Given the description of an element on the screen output the (x, y) to click on. 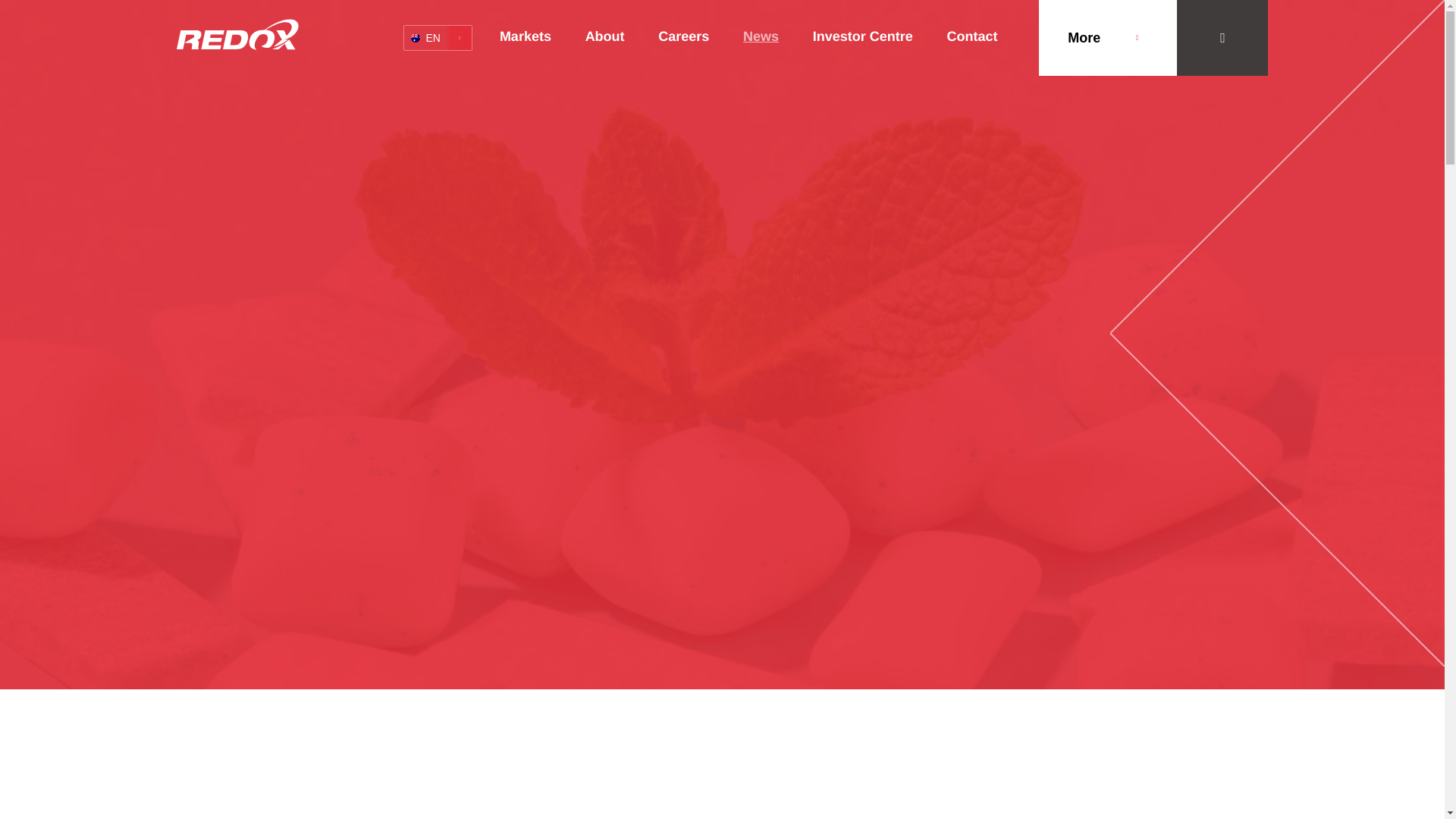
Toggle Search (1222, 38)
Select Language (437, 37)
Investor Centre (862, 38)
Redox Homepage (437, 37)
Toggle Navigation (237, 33)
Redox (1107, 38)
